Given the description of an element on the screen output the (x, y) to click on. 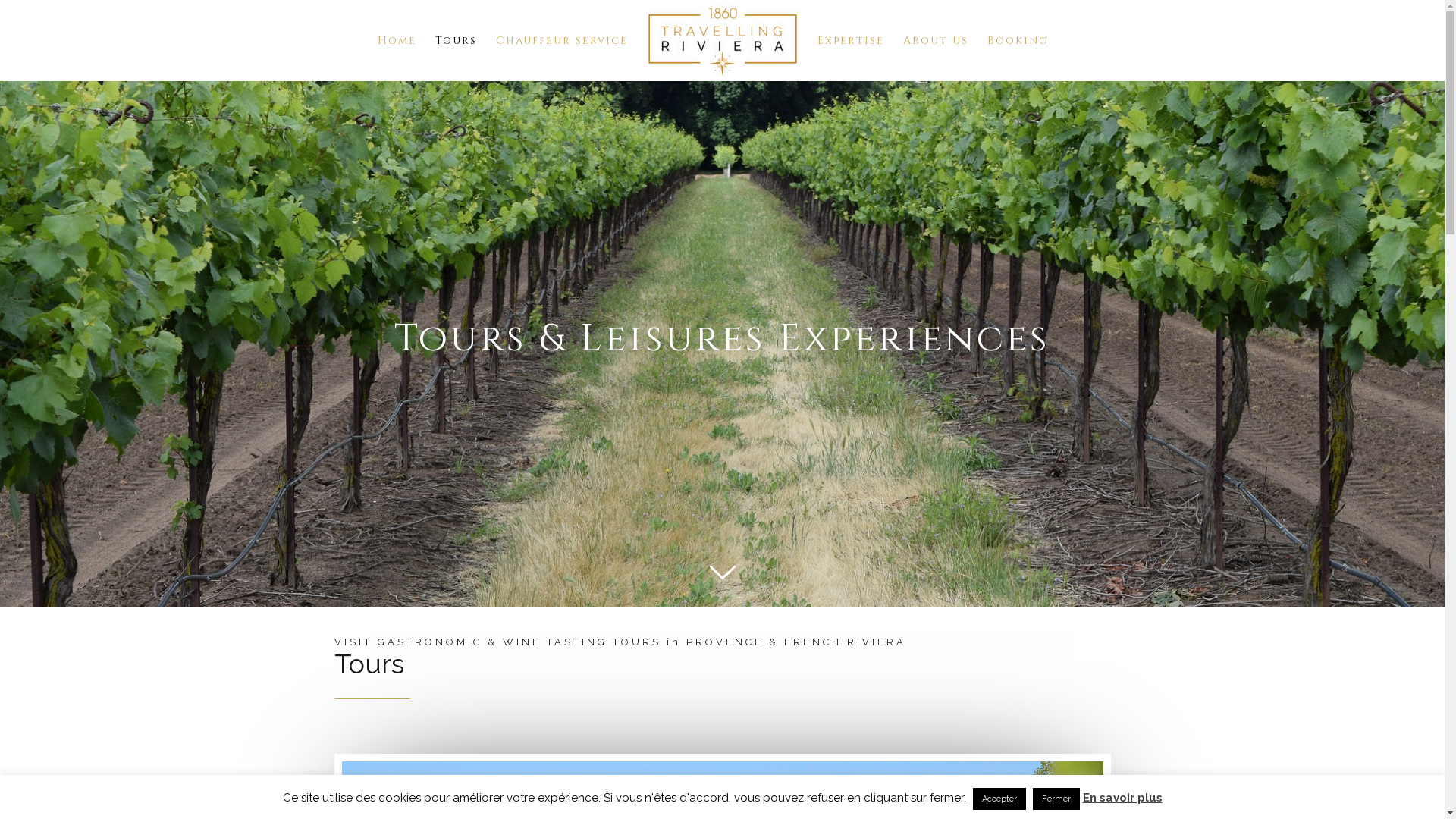
En savoir plus Element type: text (1122, 797)
Expertise Element type: text (850, 40)
Home Element type: text (396, 40)
Tours Element type: text (455, 40)
Accepter Element type: text (998, 798)
Booking Element type: text (1017, 40)
About us Element type: text (934, 40)
Chauffeur service Element type: text (561, 40)
Fermer Element type: text (1055, 798)
